Given the description of an element on the screen output the (x, y) to click on. 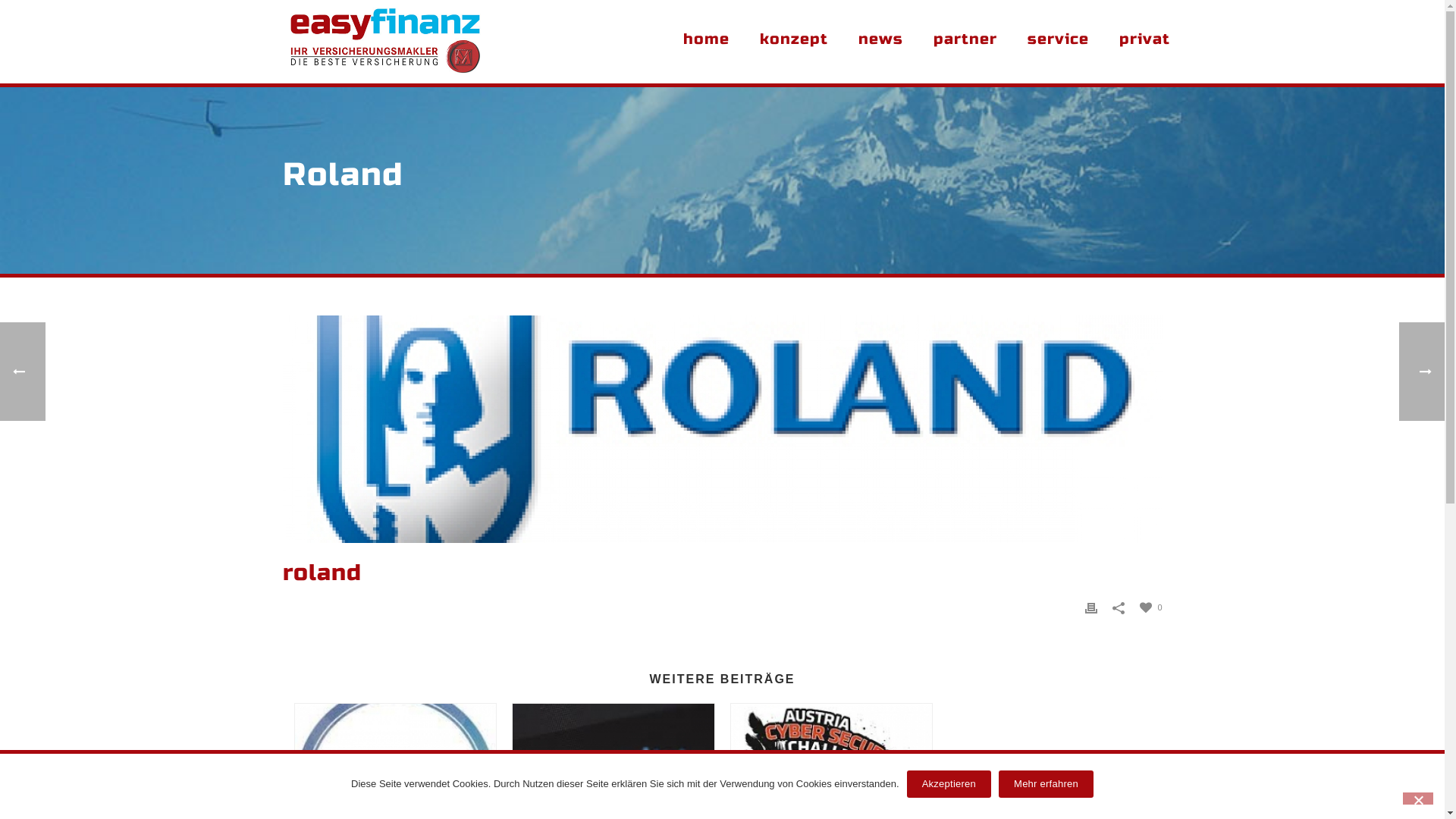
partner Element type: text (964, 42)
privat Element type: text (1144, 42)
  0 Element type: text (1150, 606)
konzept Element type: text (793, 42)
news Element type: text (880, 42)
Print Element type: hover (1091, 606)
home Element type: text (705, 42)
Mehr erfahren Element type: text (1045, 783)
Akzeptieren Element type: text (948, 783)
Roland Element type: hover (721, 428)
service Element type: text (1057, 42)
  Element type: text (721, 428)
